Given the description of an element on the screen output the (x, y) to click on. 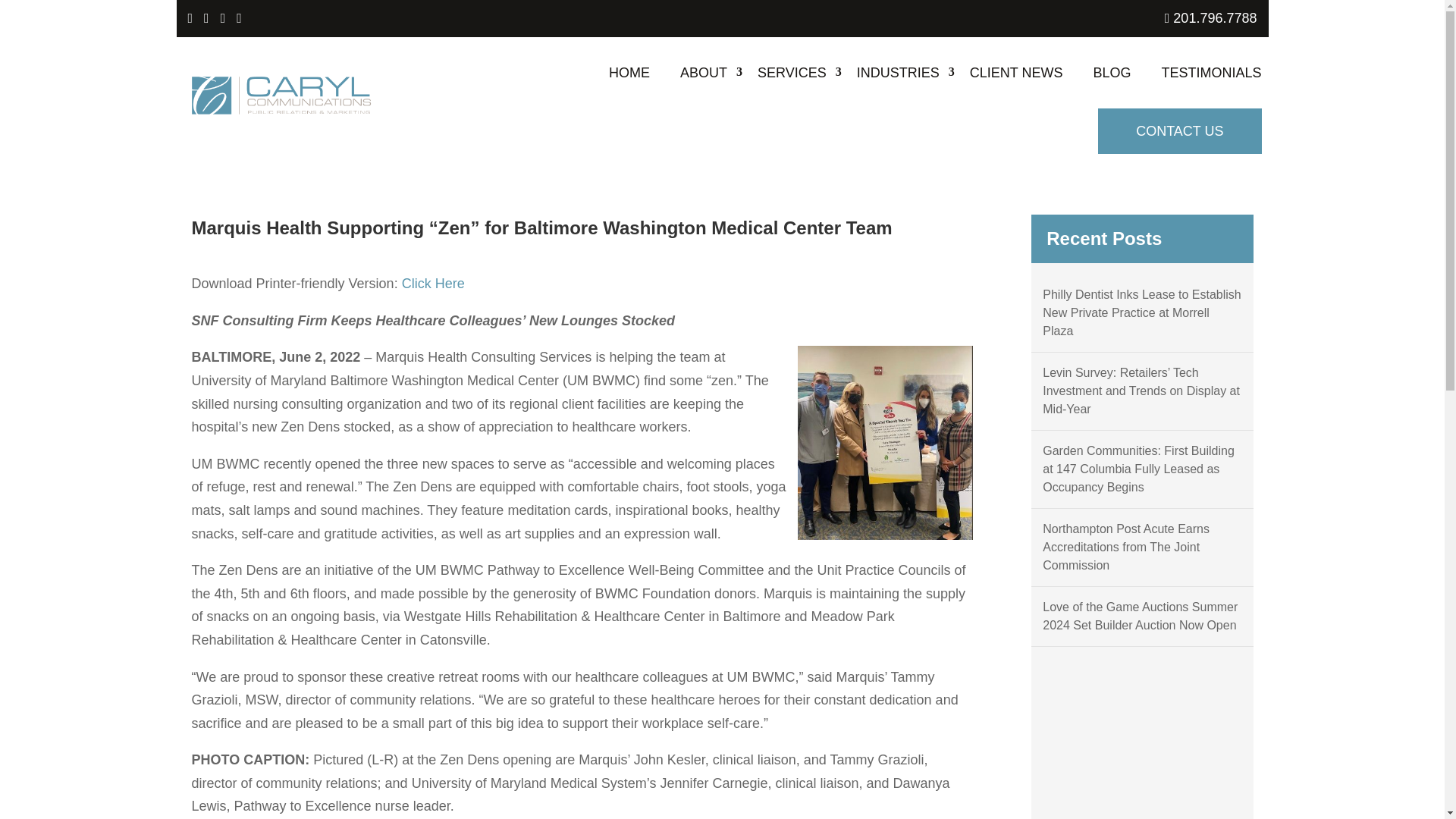
HOME (628, 72)
CONTACT US (1178, 130)
TESTIMONIALS (1210, 72)
Caryl-logo (280, 95)
ABOUT (702, 72)
CLIENT NEWS (1015, 72)
SERVICES (792, 72)
BLOG (1112, 72)
201.796.7788 (1210, 17)
INDUSTRIES (898, 72)
